Given the description of an element on the screen output the (x, y) to click on. 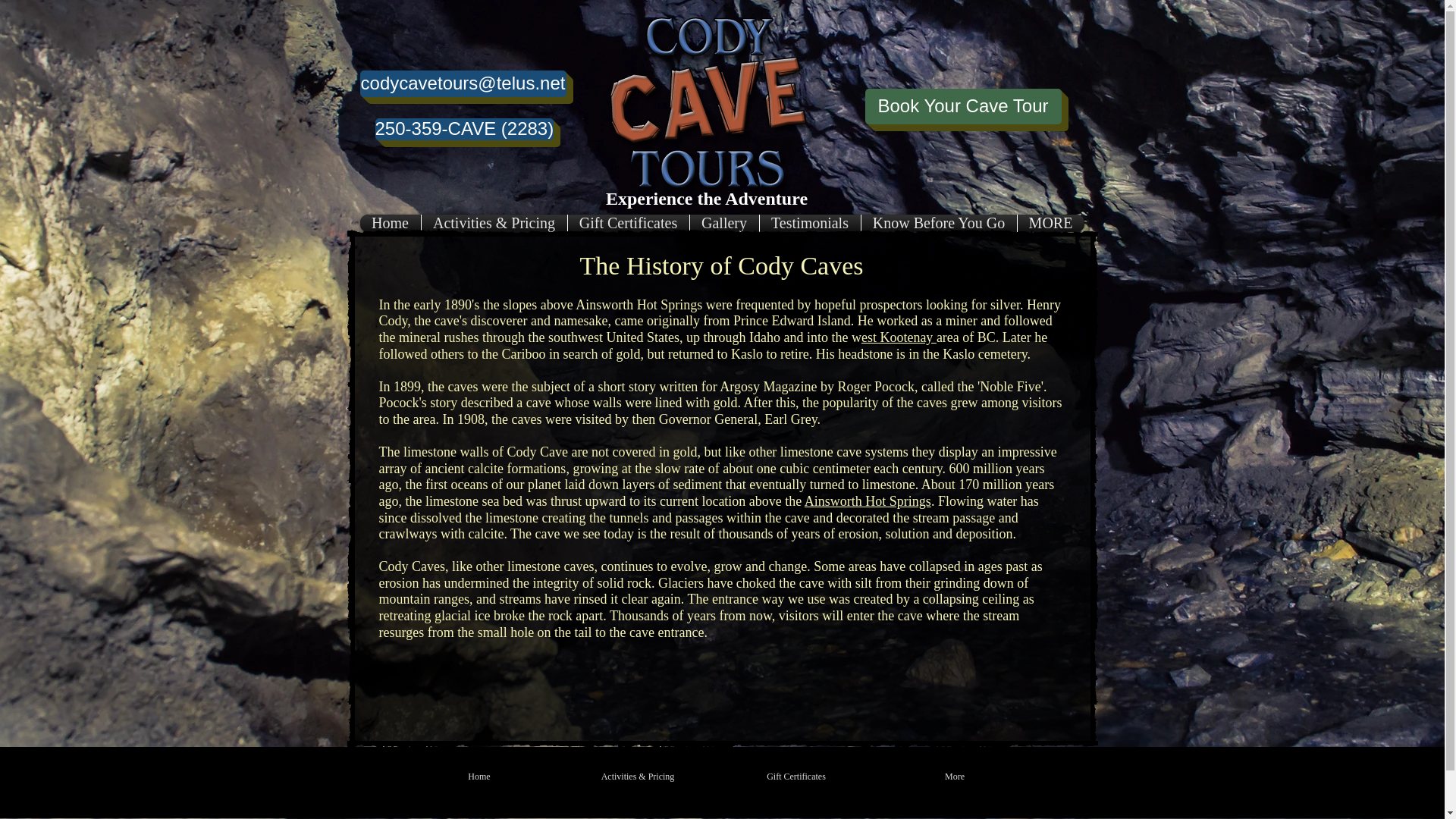
Book Your Cave Tour (962, 106)
Home (479, 776)
Gallery (723, 222)
Know Before You Go (937, 222)
est Kootenay (898, 337)
Gift Certificates (796, 776)
Home (390, 222)
Ainsworth Hot Springs (868, 500)
Testimonials (809, 222)
Gift Certificates (628, 222)
